Given the description of an element on the screen output the (x, y) to click on. 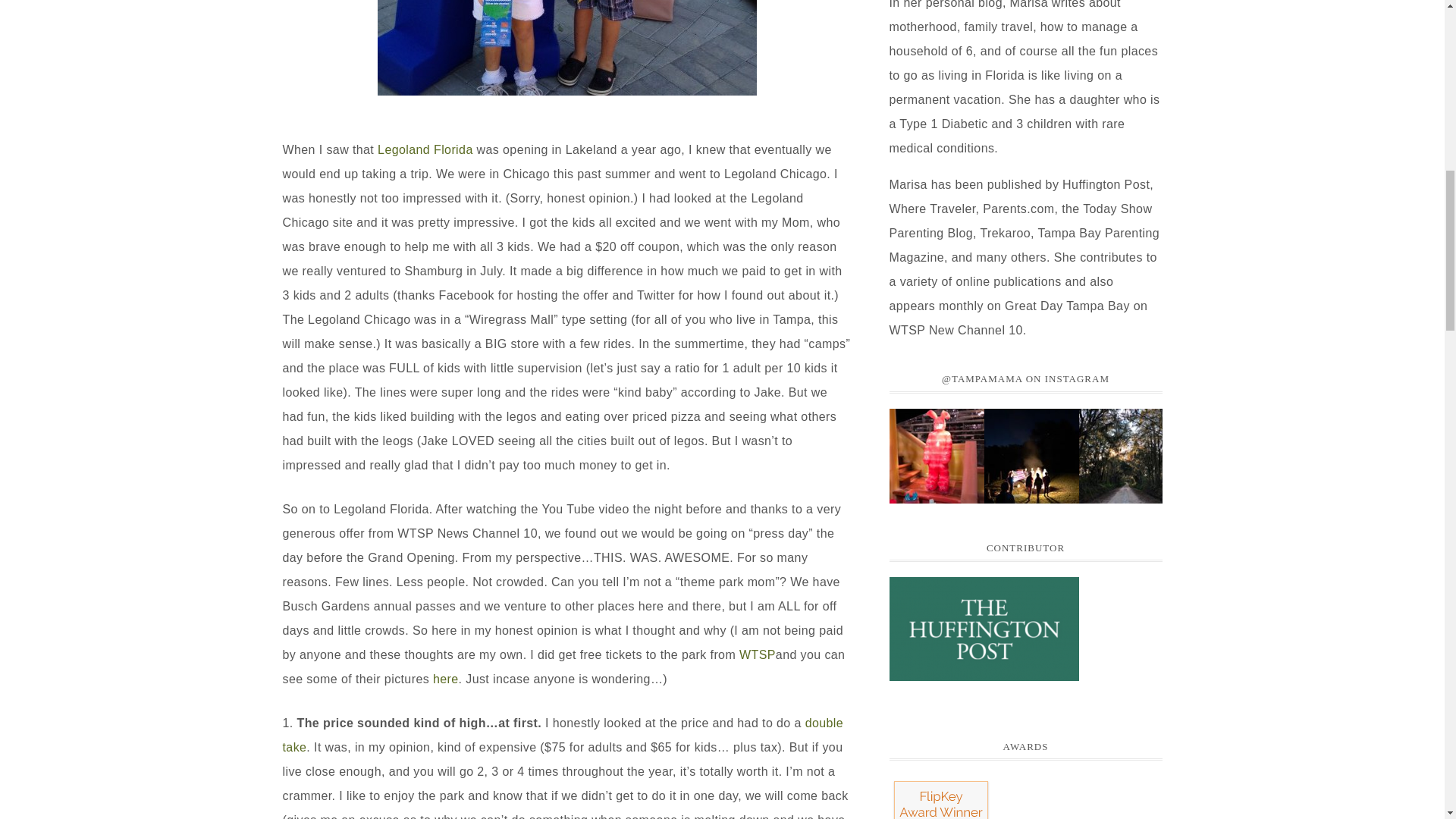
Legoland Florida (425, 148)
WTSP (757, 653)
here (445, 677)
double take (562, 733)
